Given the description of an element on the screen output the (x, y) to click on. 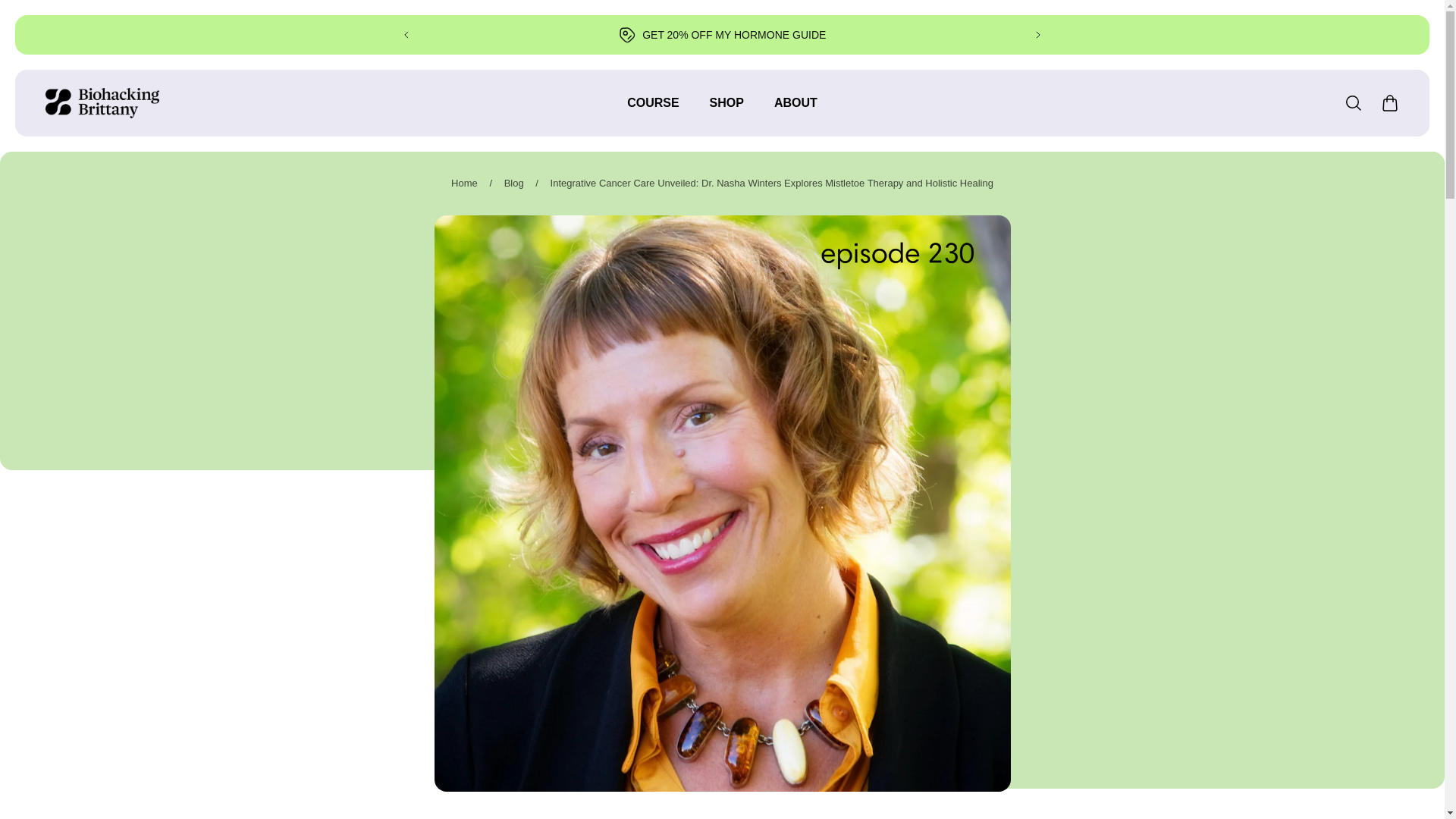
COURSE (652, 110)
SHOP (726, 110)
Blog (513, 183)
Home (464, 183)
ABOUT (795, 110)
